Given the description of an element on the screen output the (x, y) to click on. 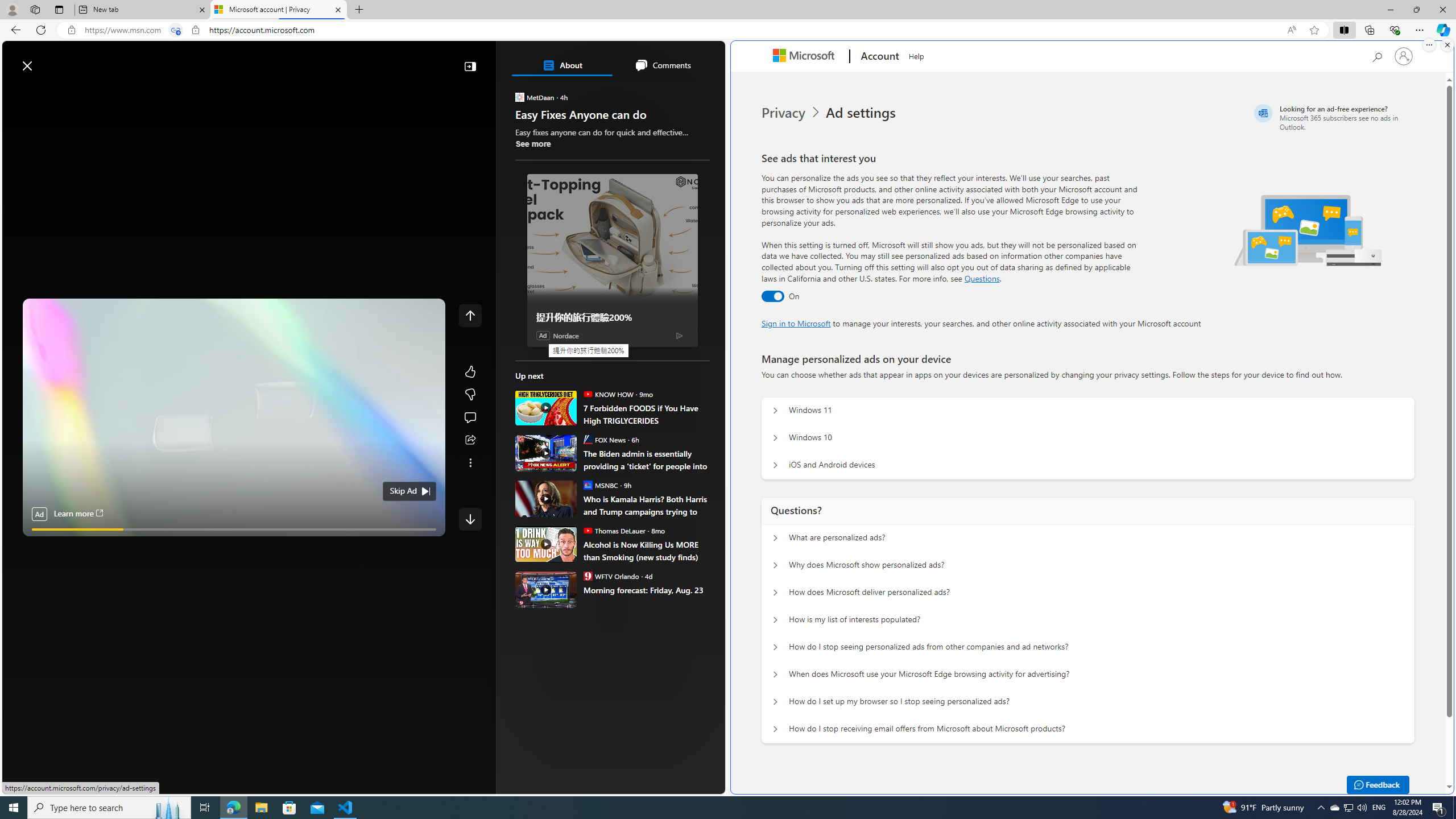
Unmute (430, 543)
Open settings (699, 60)
Sign in to Microsoft (796, 323)
Enter your search term (366, 59)
Illustration of multiple devices (1308, 229)
Questions? What are personalized ads? (775, 537)
Skip Ad (403, 490)
